Given the description of an element on the screen output the (x, y) to click on. 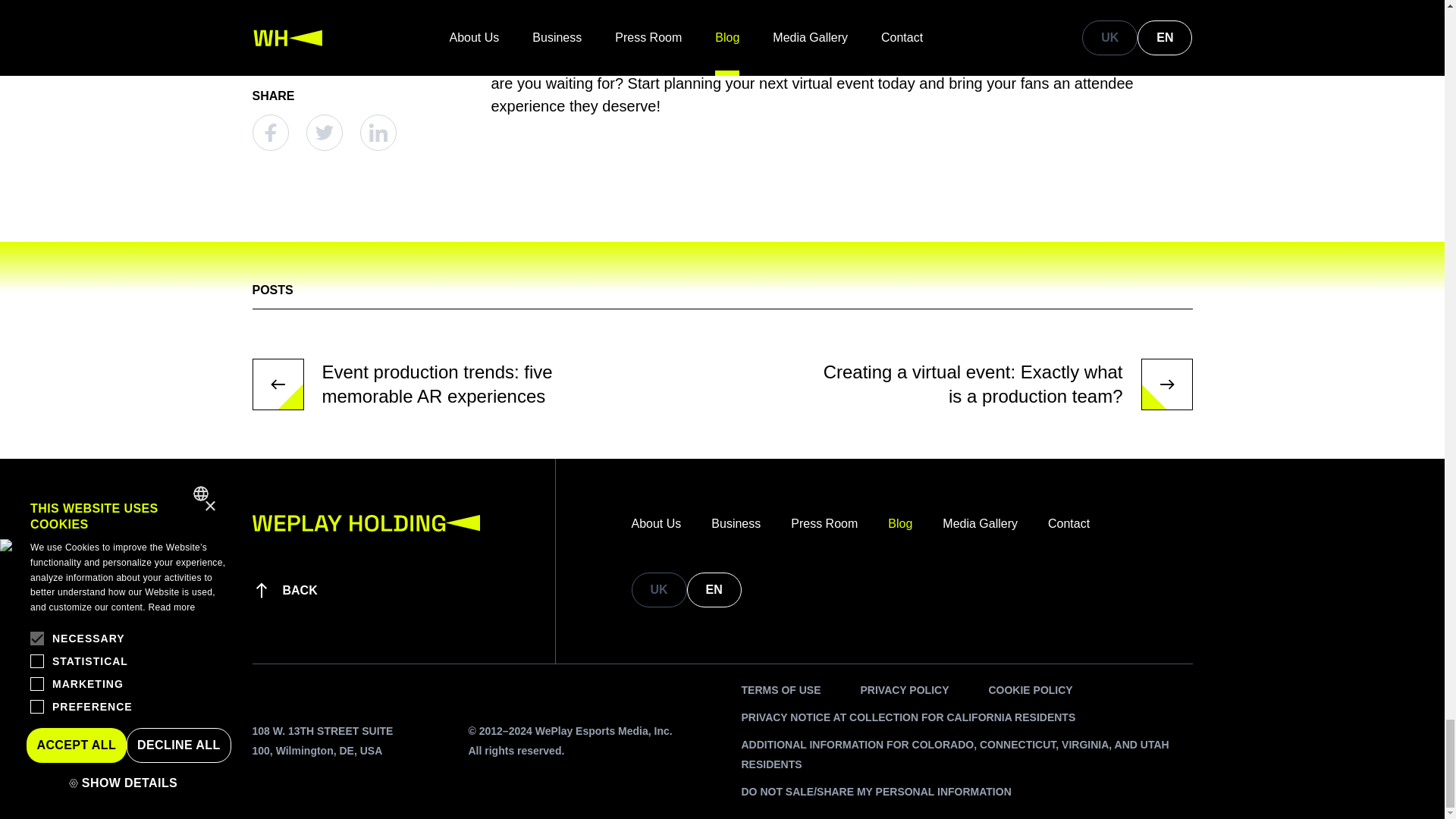
Creating a virtual event: Exactly what is a production team? (1000, 384)
Event production trends: five memorable AR experiences (442, 384)
About Us (655, 524)
BACK (284, 590)
